Given the description of an element on the screen output the (x, y) to click on. 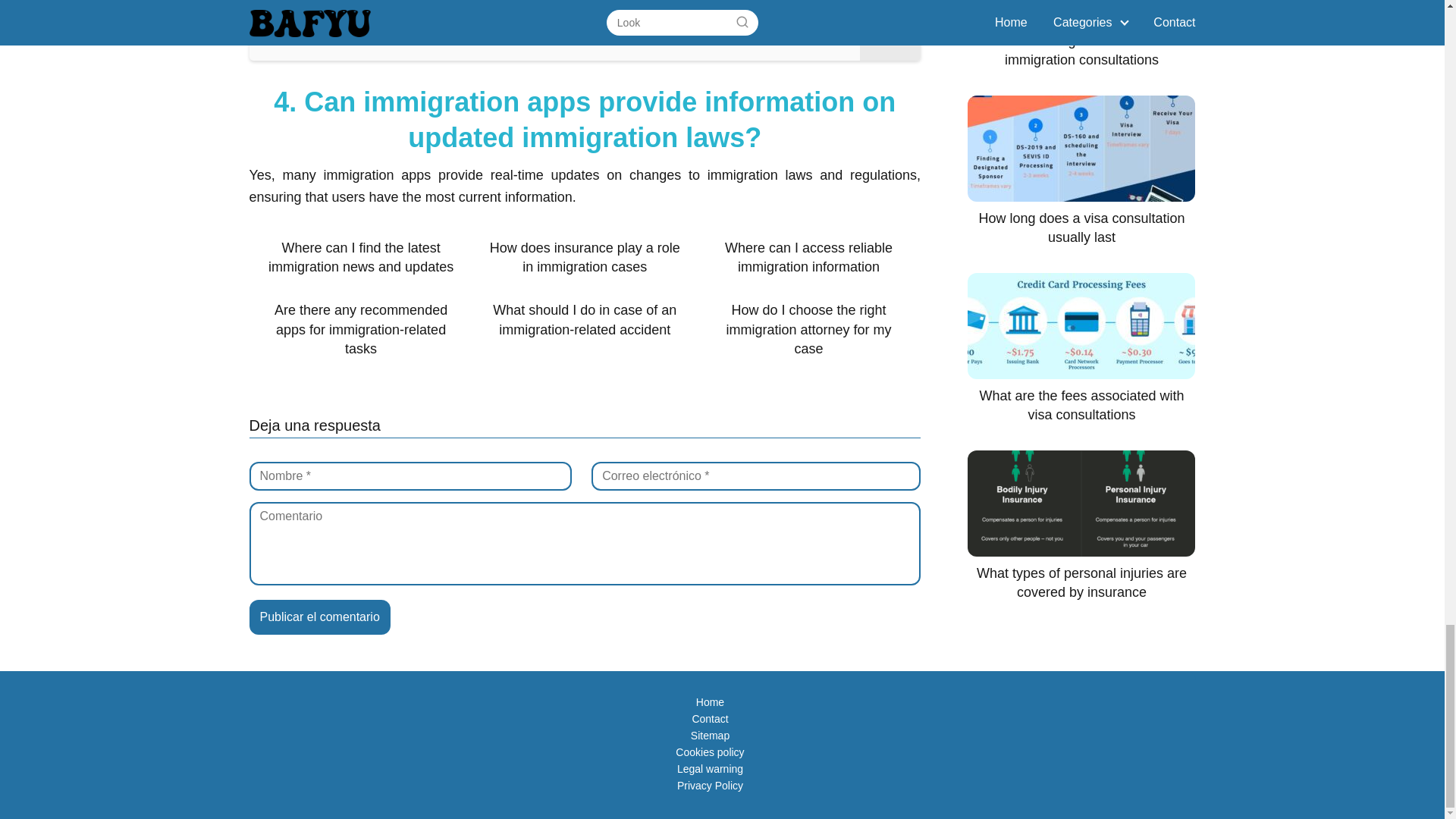
Publicar el comentario (319, 616)
How does insurance play a role in immigration cases (584, 257)
Where can I access reliable immigration information (808, 257)
What should I do in case of an immigration-related accident (584, 320)
Is an MBA degree beneficial for immigration consultations (584, 30)
How do I choose the right immigration attorney for my case (808, 329)
Where can I find the latest immigration news and updates (361, 257)
Are there any recommended apps for immigration-related tasks (361, 329)
